Given the description of an element on the screen output the (x, y) to click on. 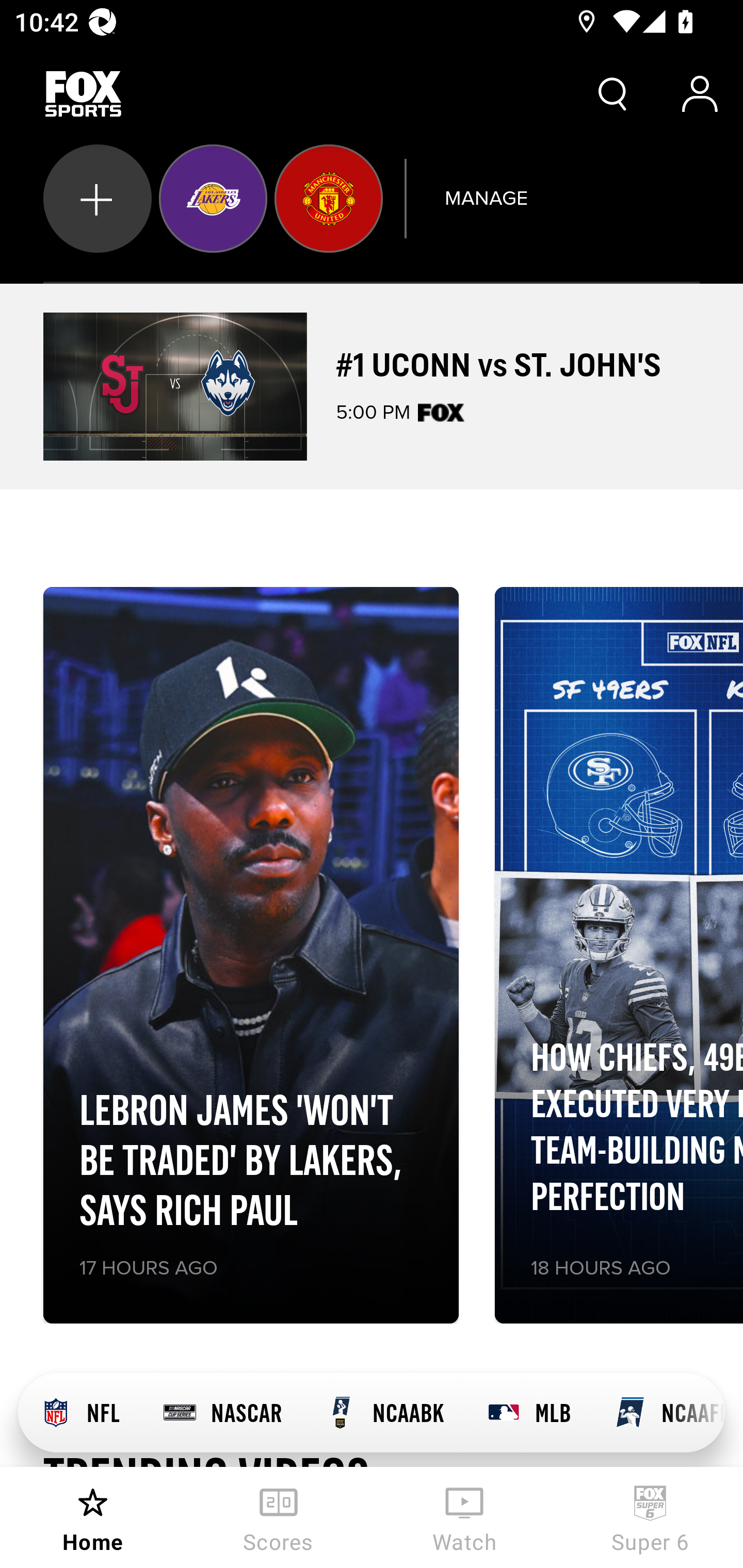
Search (612, 93)
Account (699, 93)
MANAGE (485, 198)
#1 UCONN vs ST. JOHN'S 5:00 PM (371, 386)
NFL (79, 1412)
NASCAR (222, 1412)
NCAABK (384, 1412)
MLB (528, 1412)
NCAAFB (658, 1412)
Scores (278, 1517)
Watch (464, 1517)
Super 6 (650, 1517)
